Given the description of an element on the screen output the (x, y) to click on. 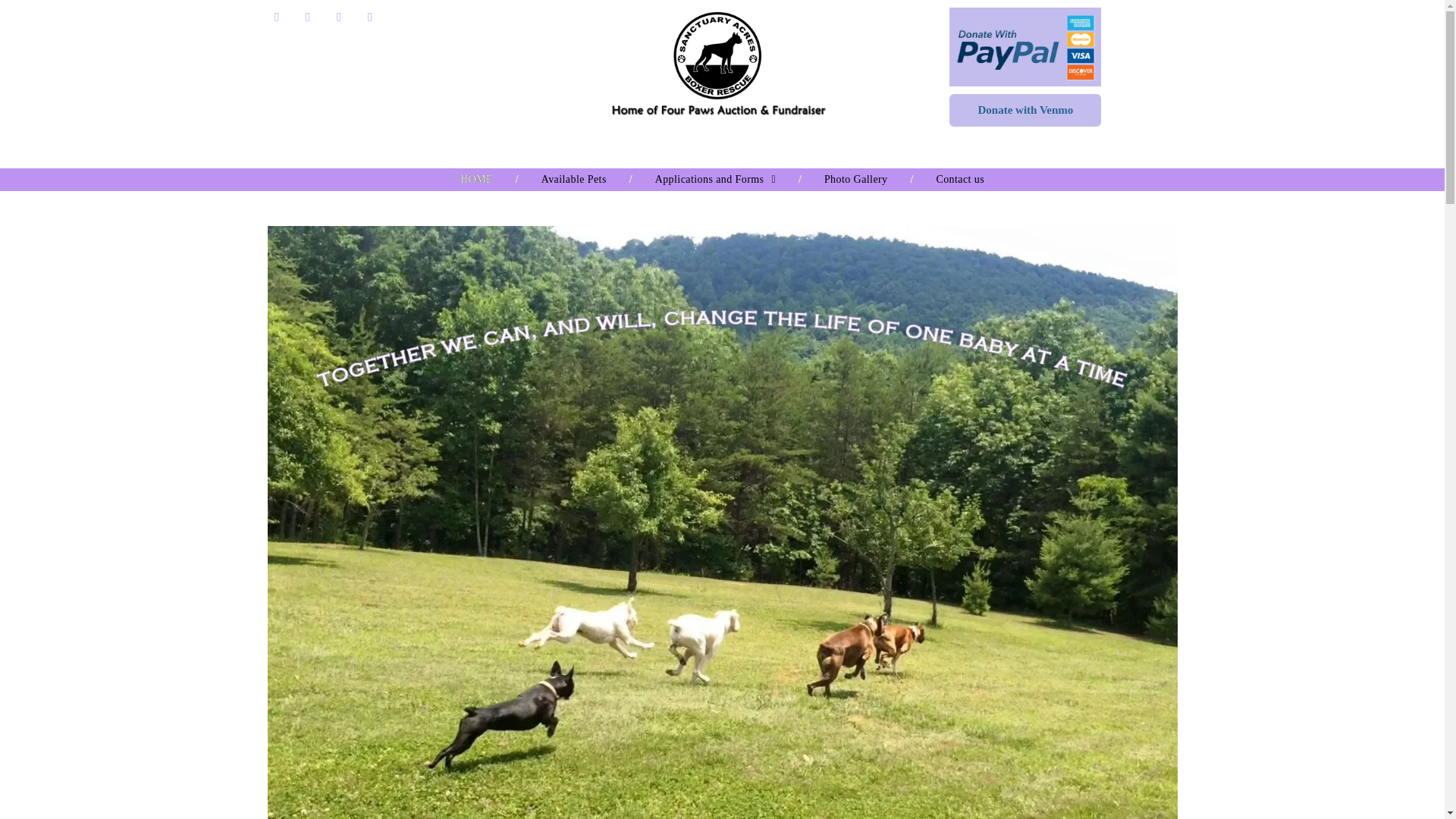
Photo Gallery (856, 179)
Donate with Venmo (1024, 110)
Contact us (959, 179)
HOME (476, 179)
Available Pets (573, 179)
Applications and Forms (714, 179)
